Given the description of an element on the screen output the (x, y) to click on. 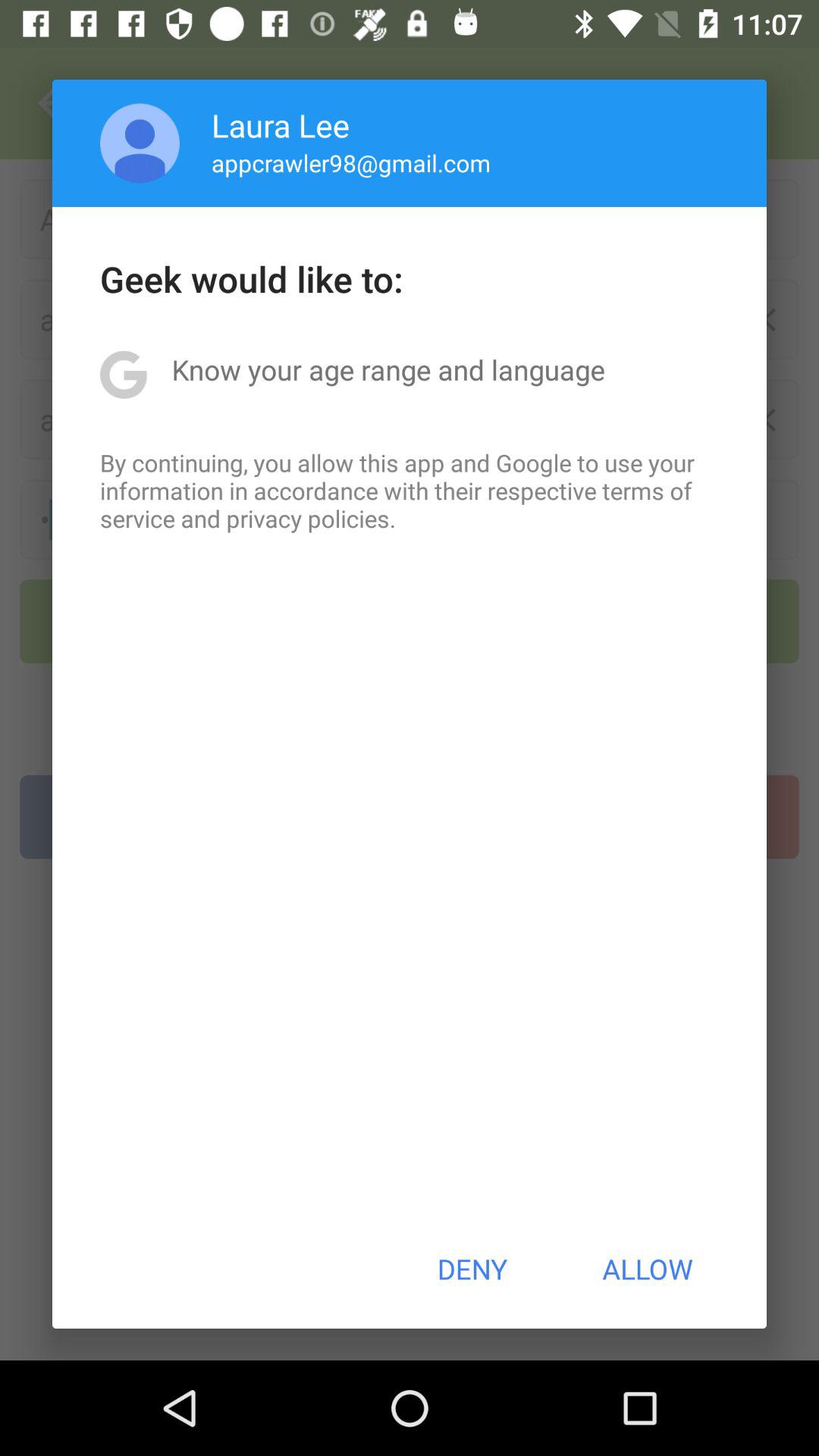
tap app next to laura lee (139, 143)
